Given the description of an element on the screen output the (x, y) to click on. 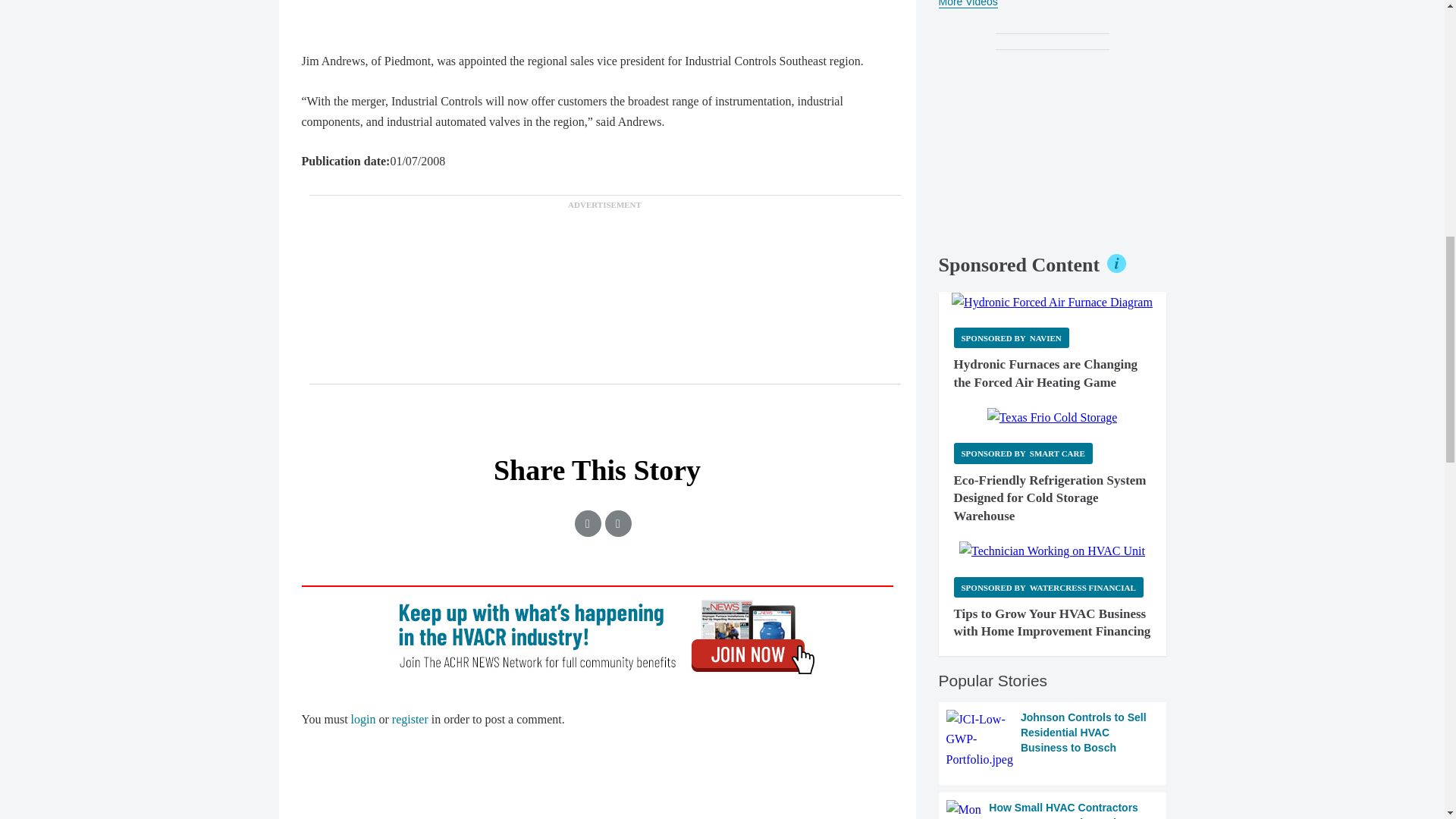
Technician Working on HVAC Unit (1051, 551)
Sponsored by Navien (1010, 337)
Johnson Controls to Sell Residential HVAC Business to Bosch (1052, 739)
Hydronic Forced Air Furnace Diagram (1052, 302)
Sponsored by Smart Care (1023, 453)
Texas Frio Cold Storage (1052, 417)
Sponsored by Watercress Financial (1047, 586)
